Given the description of an element on the screen output the (x, y) to click on. 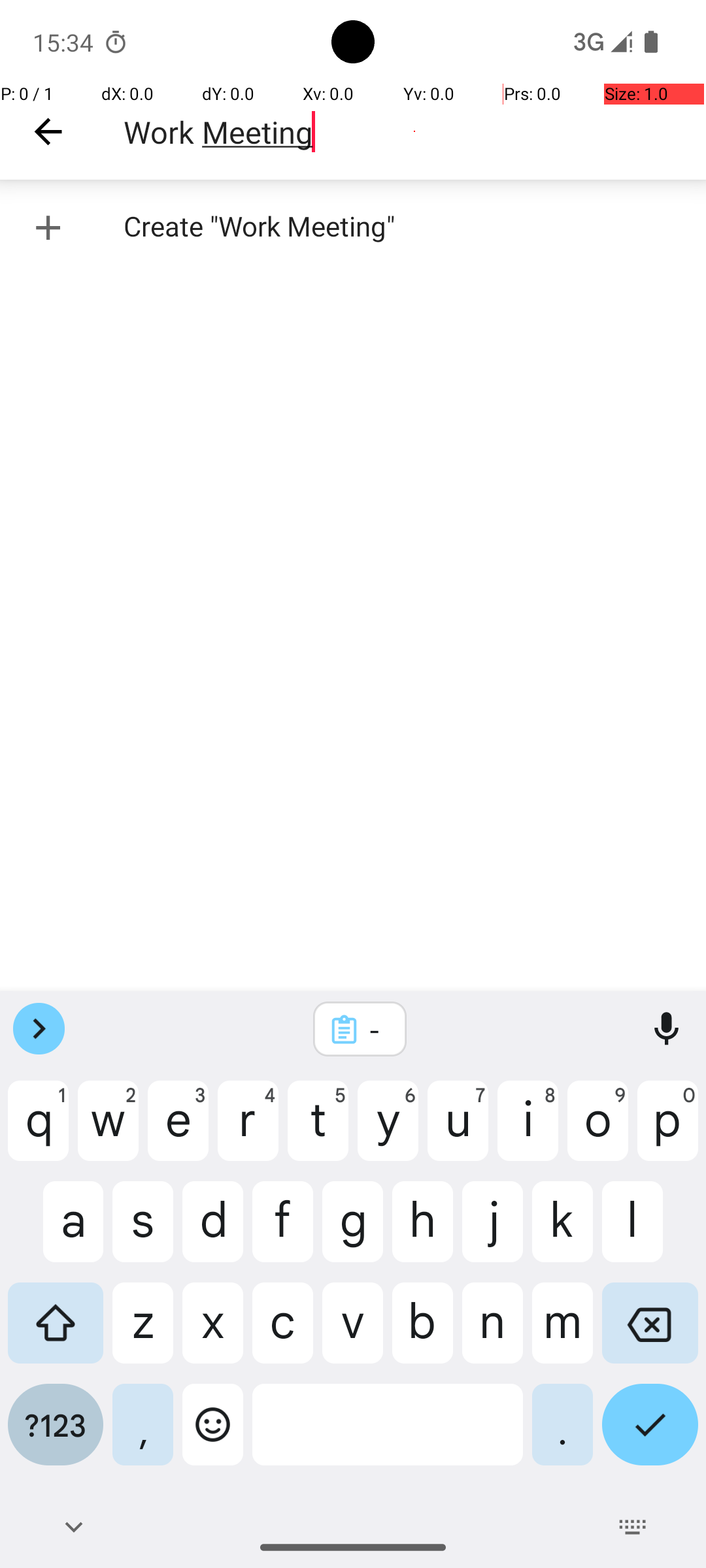
Work Meeting Element type: android.widget.EditText (414, 131)
Create "Work Meeting" Element type: android.widget.TextView (353, 227)
